Given the description of an element on the screen output the (x, y) to click on. 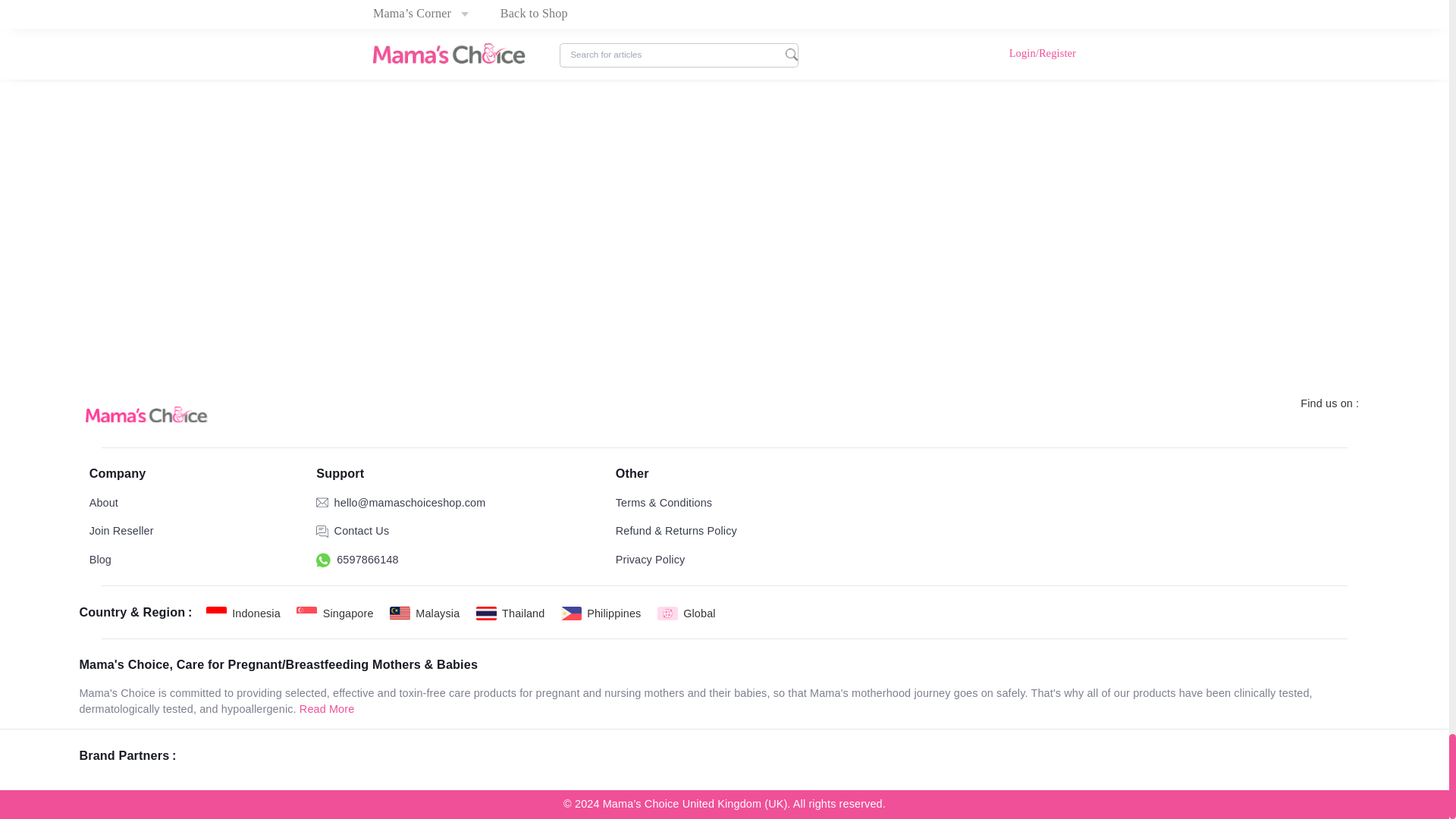
Login (1169, 435)
Login (494, 519)
Most Helpful (1150, 646)
Sign up (548, 519)
Top Comments (1050, 646)
Newest (965, 646)
Subscribe (787, 14)
